Given the description of an element on the screen output the (x, y) to click on. 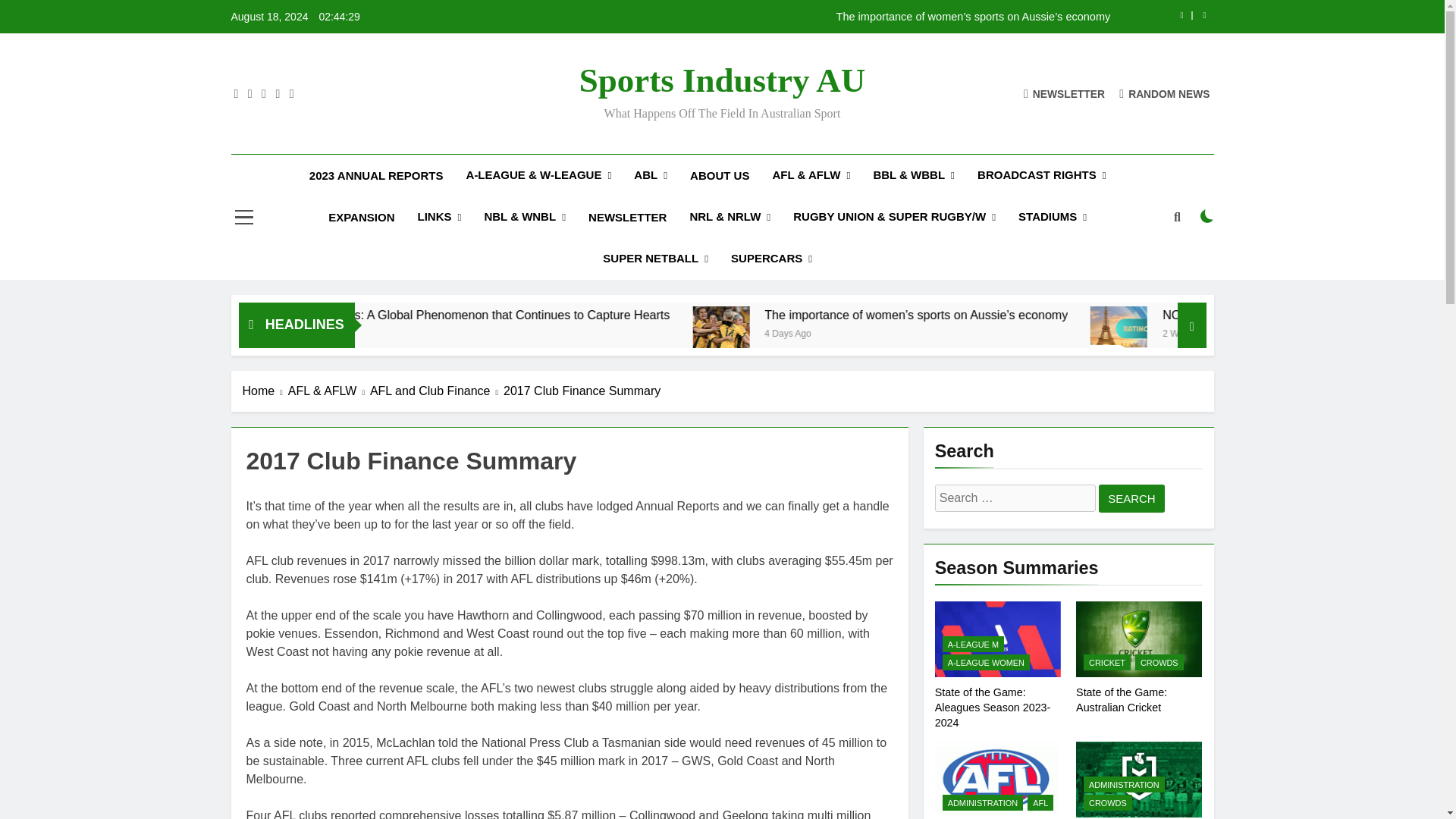
RANDOM NEWS (1164, 92)
on (1206, 215)
NEWSLETTER (1064, 92)
Sports Industry AU (722, 80)
2023 ANNUAL REPORTS (376, 174)
Search (1131, 498)
Search (1131, 498)
